Given the description of an element on the screen output the (x, y) to click on. 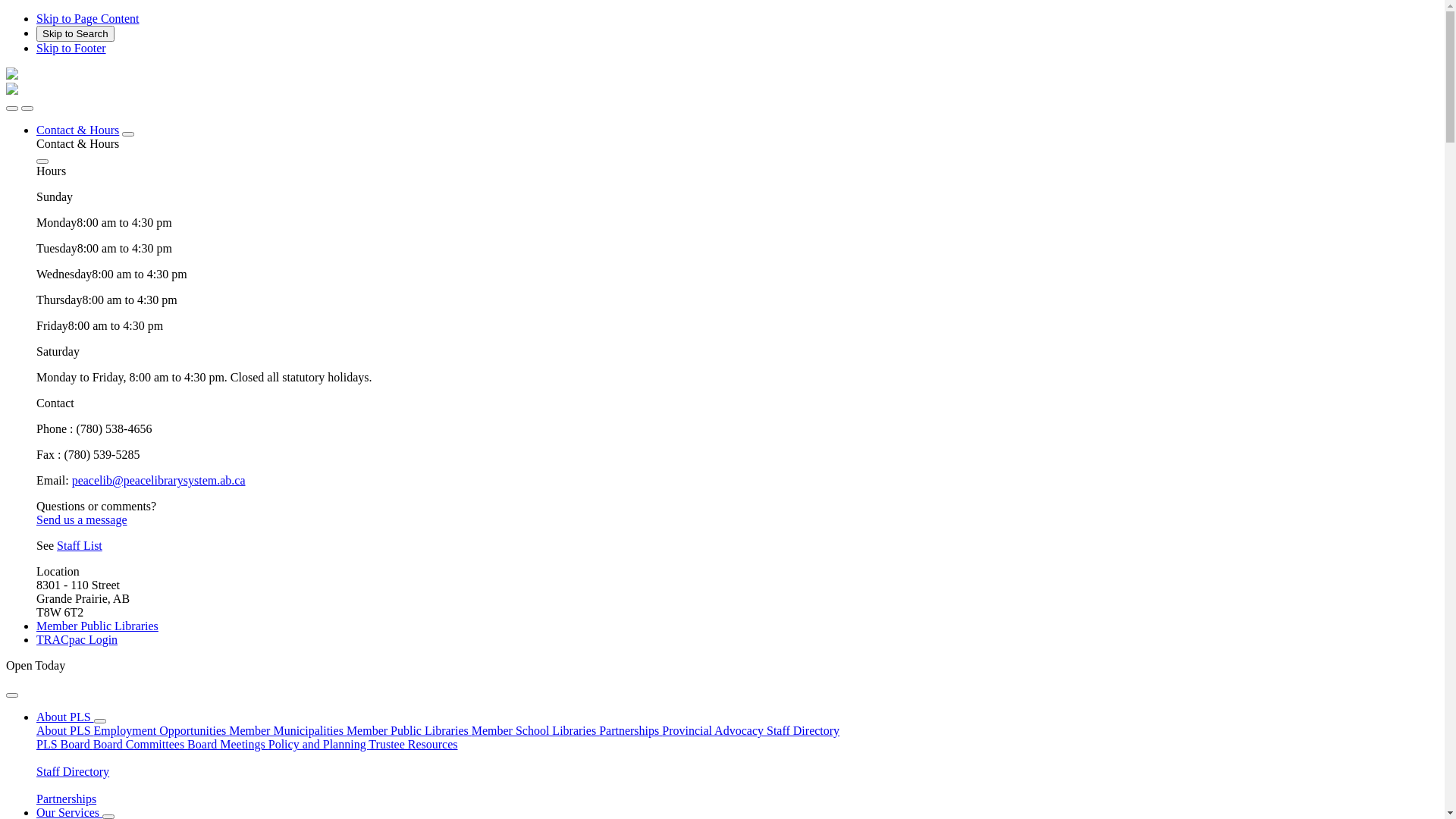
Member Municipalities Element type: text (287, 730)
About PLS Element type: text (65, 716)
Skip to Footer Element type: text (71, 47)
Employment Opportunities Element type: text (161, 730)
Member Public Libraries Element type: text (408, 730)
Staff Directory Element type: text (737, 764)
Board Committees Element type: text (140, 743)
Policy and Planning Element type: text (318, 743)
Partnerships Element type: text (630, 730)
PLS Board Element type: text (64, 743)
Member Public Libraries Element type: text (97, 625)
Contact & Hours Element type: text (77, 129)
Board Meetings Element type: text (227, 743)
Staff Directory Element type: text (802, 730)
Member School Libraries Element type: text (535, 730)
peacelib@peacelibrarysystem.ab.ca Element type: text (158, 479)
Skip to Search Element type: text (75, 33)
Provincial Advocacy Element type: text (714, 730)
Trustee Resources Element type: text (412, 743)
Staff List Element type: text (79, 545)
TRACpac Login Element type: text (76, 639)
Partnerships Element type: text (737, 792)
Send us a message Element type: text (81, 519)
About PLS Element type: text (65, 730)
Peace Library System Element type: hover (12, 90)
Skip to Page Content Element type: text (87, 18)
